Given the description of an element on the screen output the (x, y) to click on. 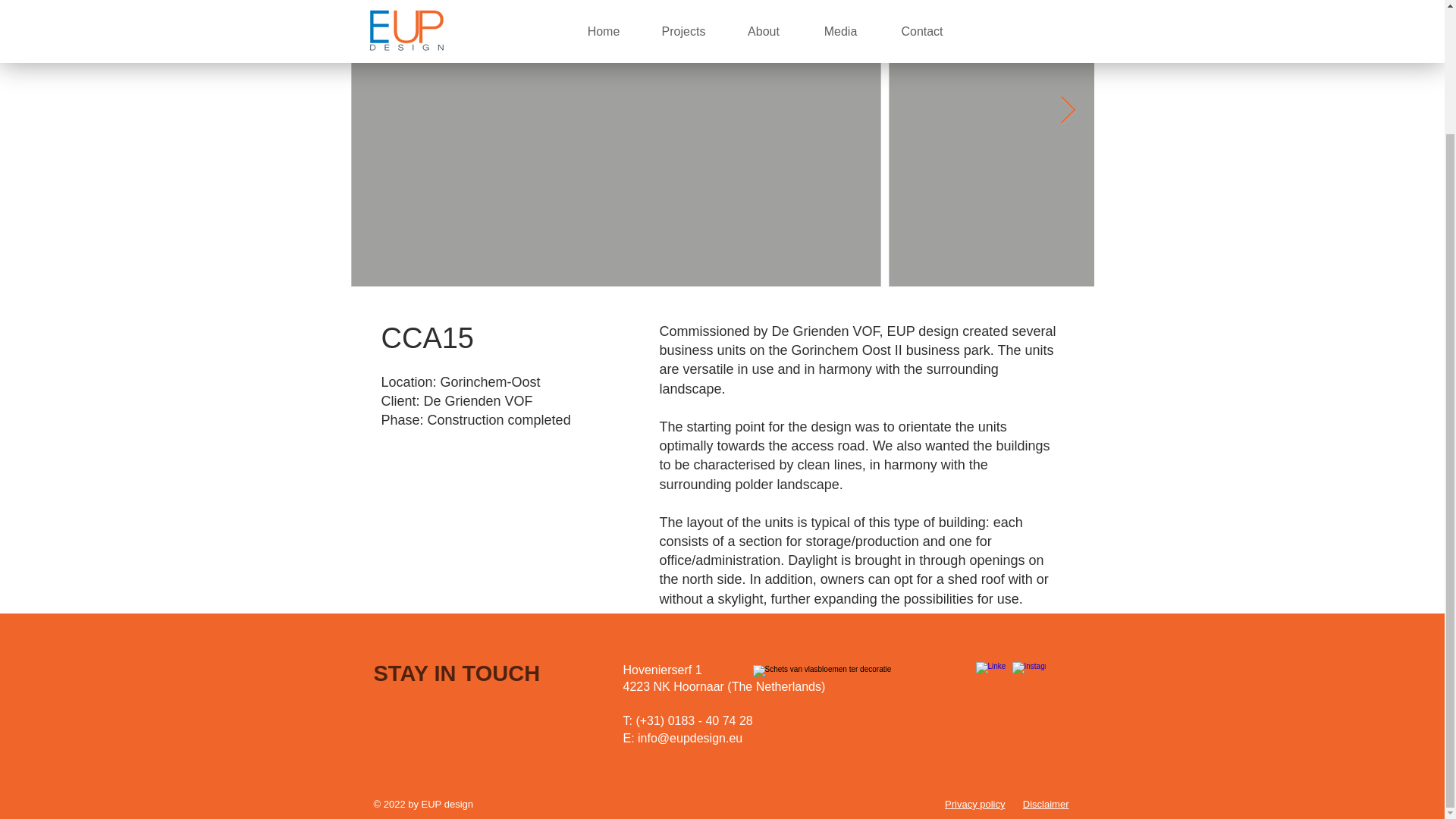
Privacy policy (974, 803)
0183 - 40 74 28 (710, 720)
Disclaimer (1045, 803)
